Given the description of an element on the screen output the (x, y) to click on. 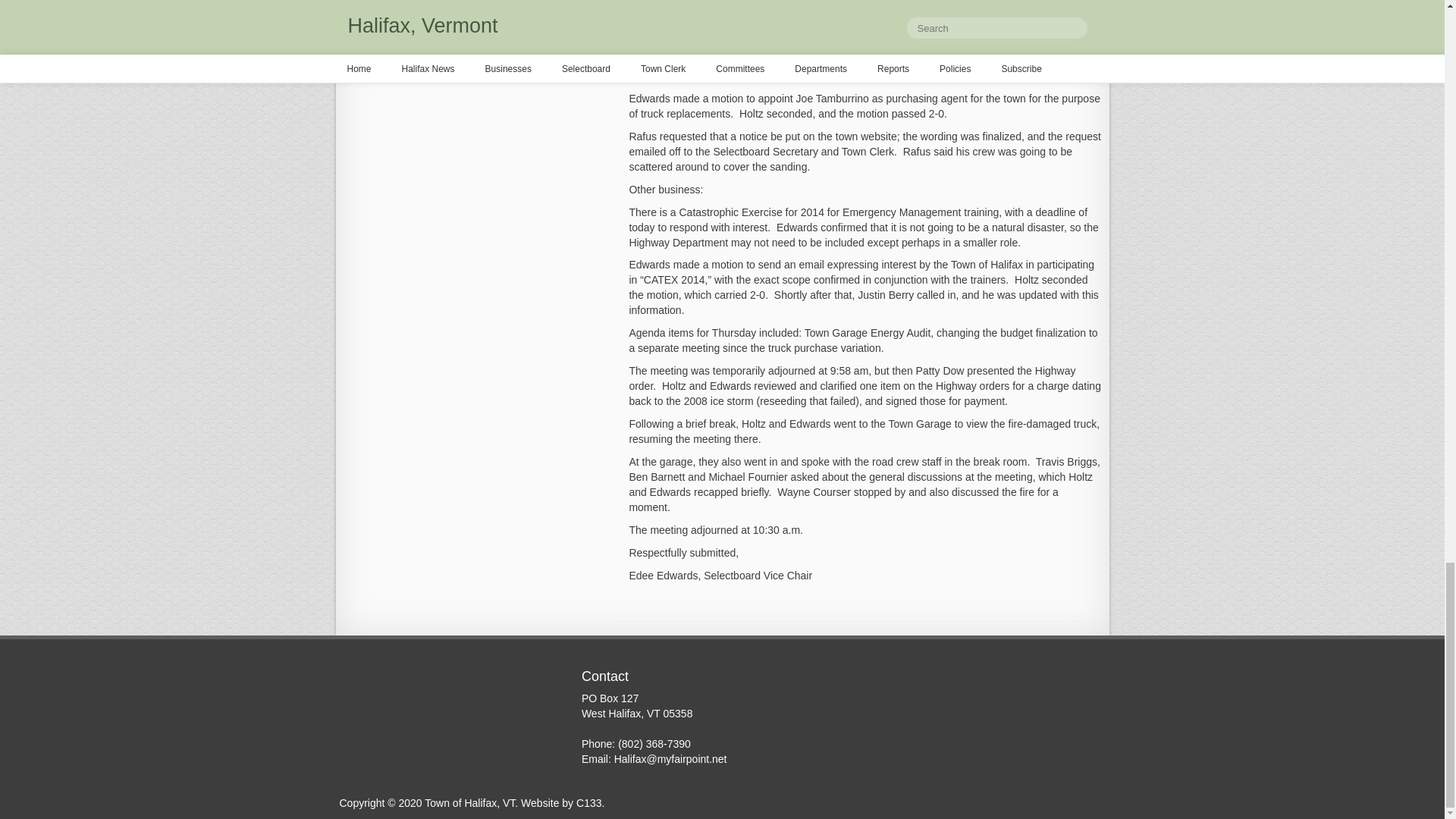
Municipal WordPress Websites (588, 802)
